Given the description of an element on the screen output the (x, y) to click on. 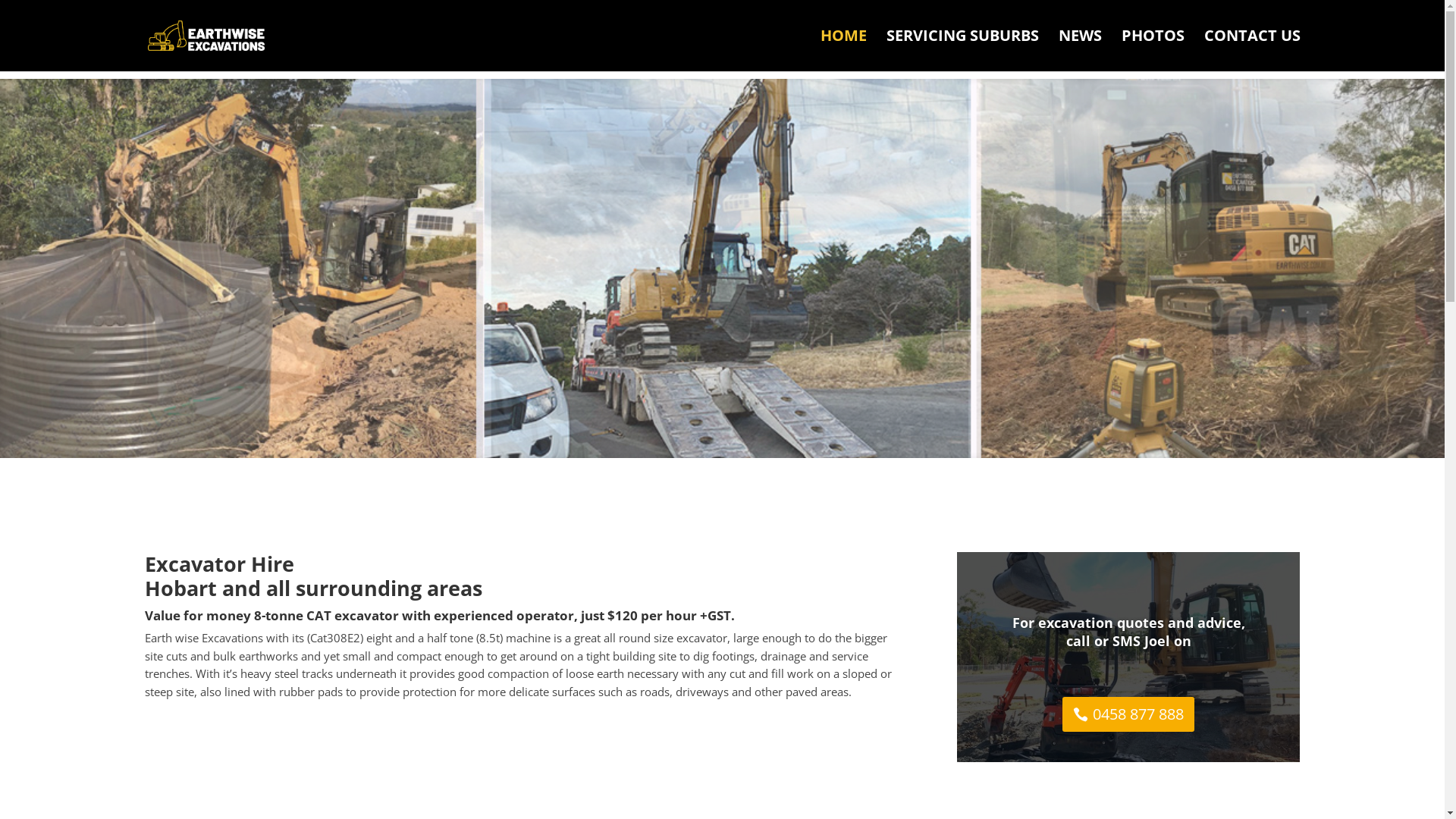
HOME Element type: text (843, 49)
PHOTOS Element type: text (1151, 49)
0458 877 888 Element type: text (1128, 713)
NEWS Element type: text (1079, 49)
SERVICING SUBURBS Element type: text (961, 49)
CONTACT US Element type: text (1252, 49)
